Given the description of an element on the screen output the (x, y) to click on. 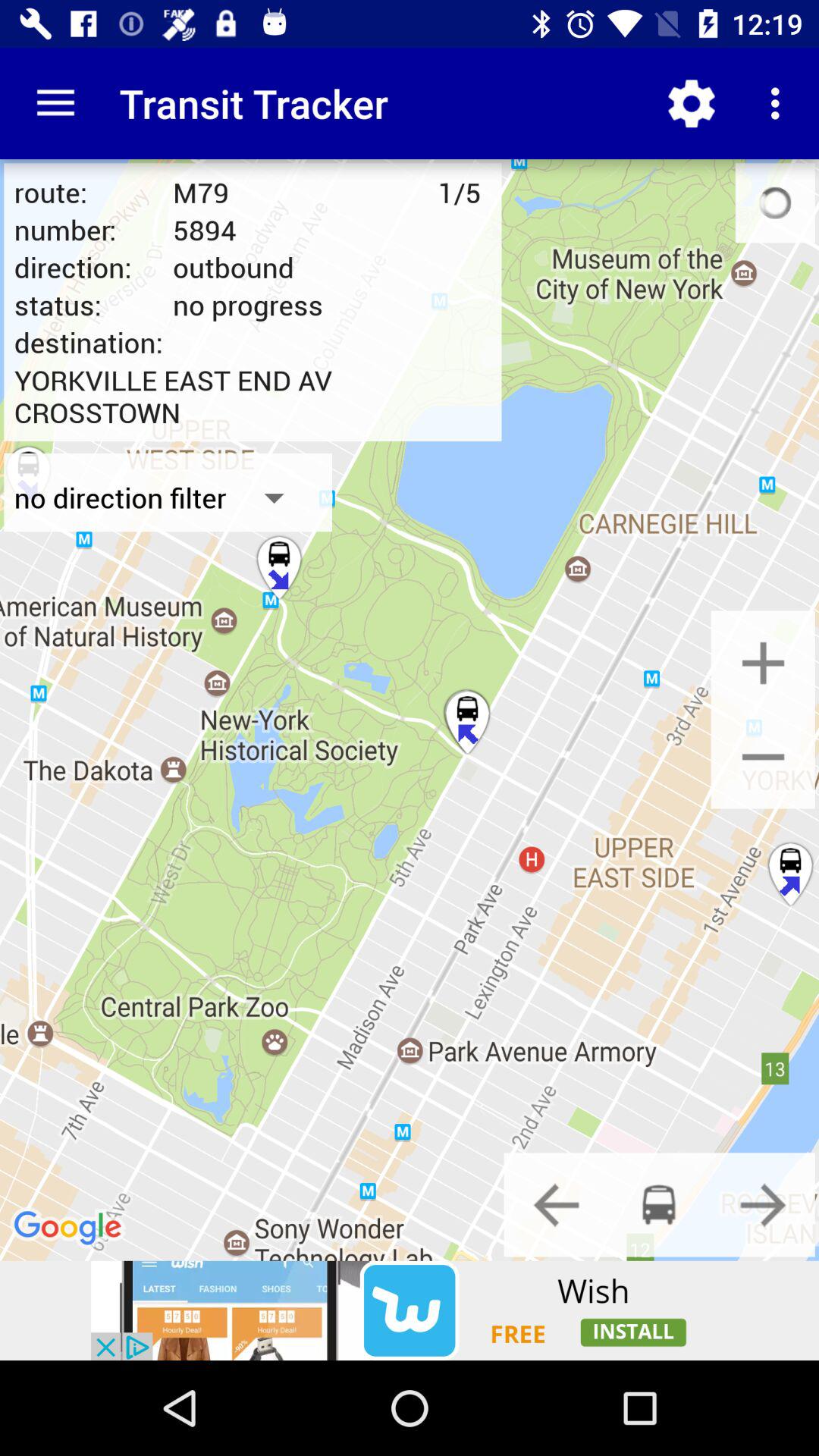
click on the right arrow button which is in the bottom right (762, 1204)
